Given the description of an element on the screen output the (x, y) to click on. 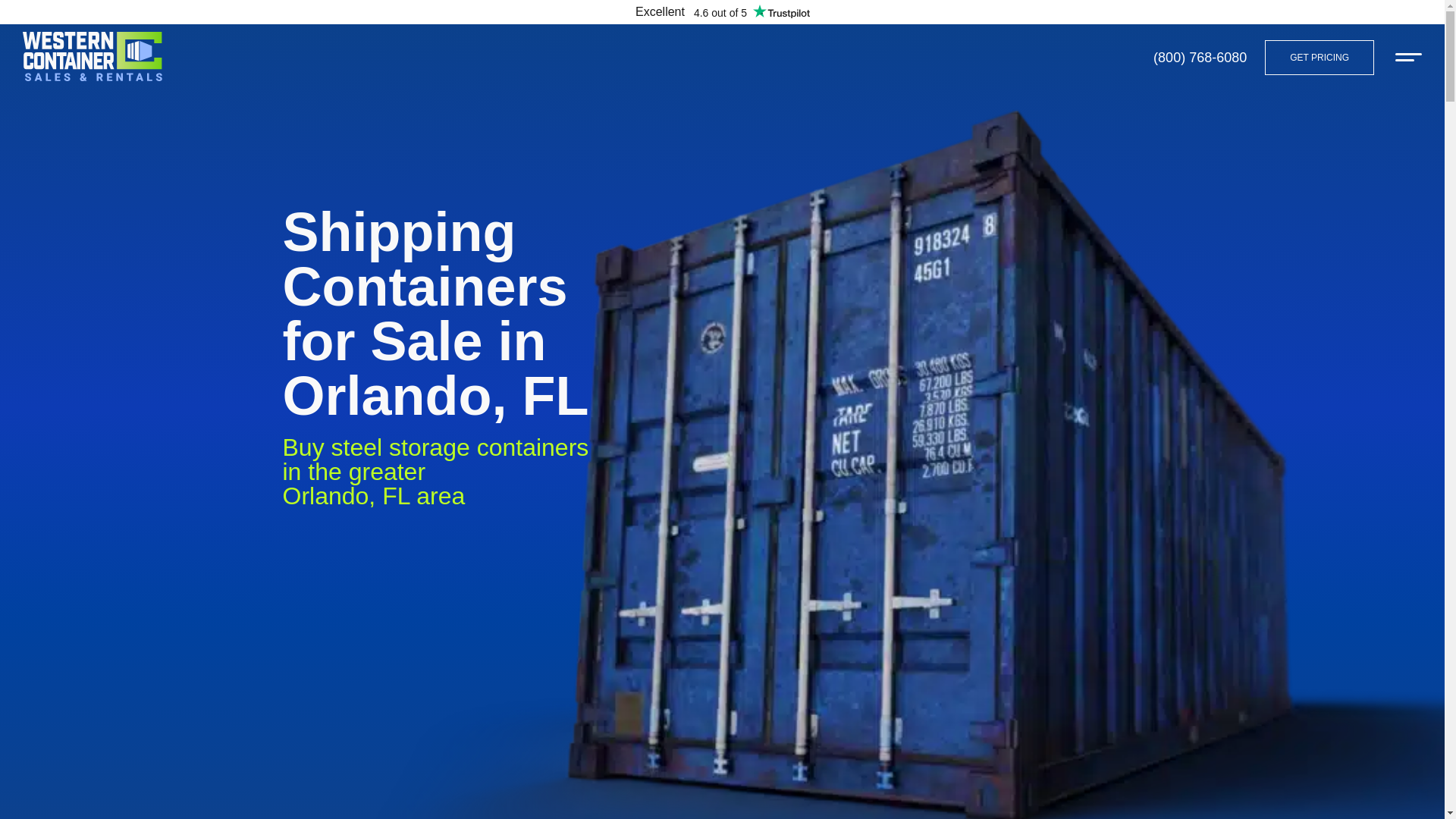
Customer reviews powered by Trustpilot (721, 11)
GET PRICING (1319, 56)
